Given the description of an element on the screen output the (x, y) to click on. 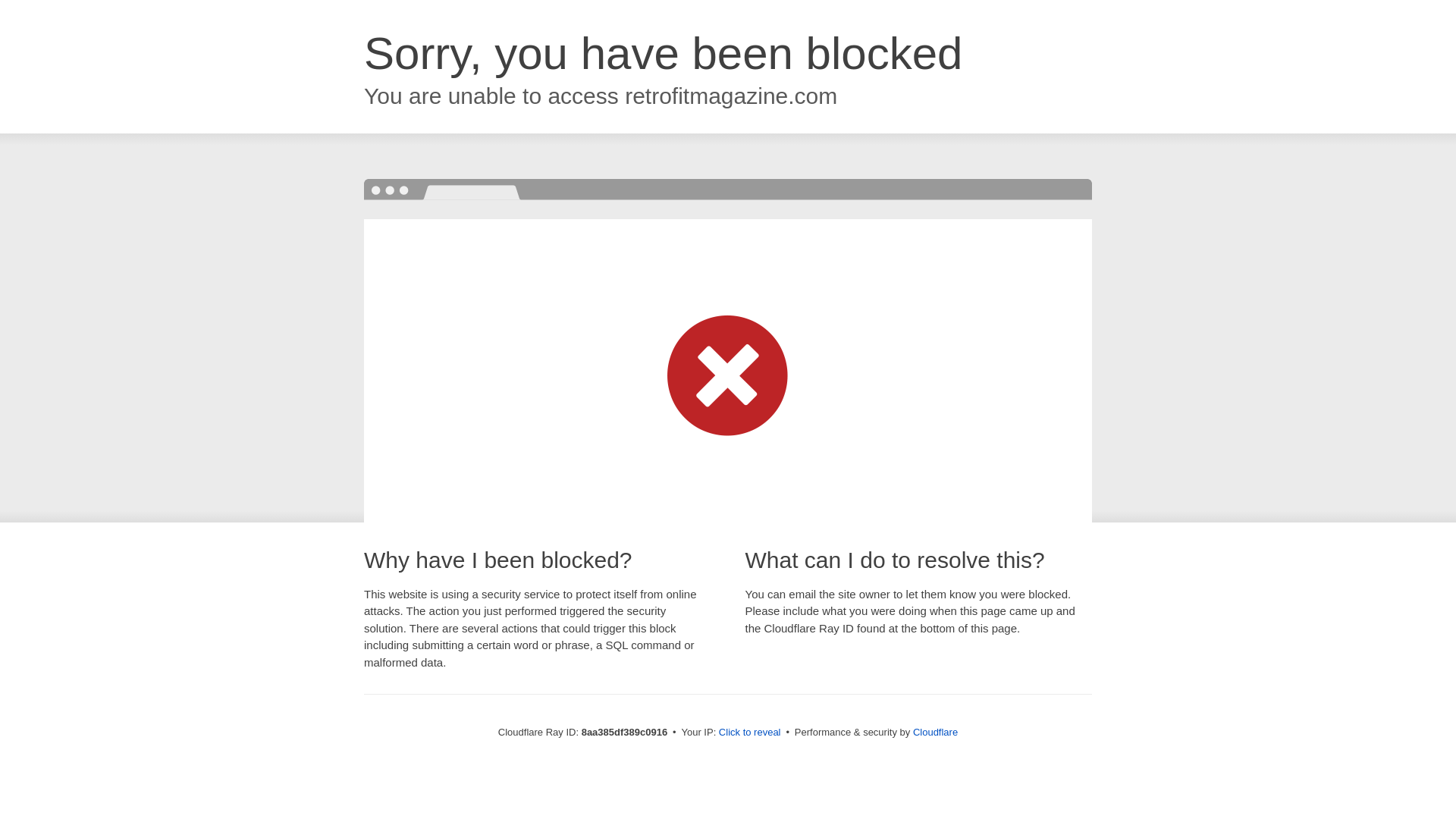
Cloudflare (935, 731)
Click to reveal (749, 732)
